Given the description of an element on the screen output the (x, y) to click on. 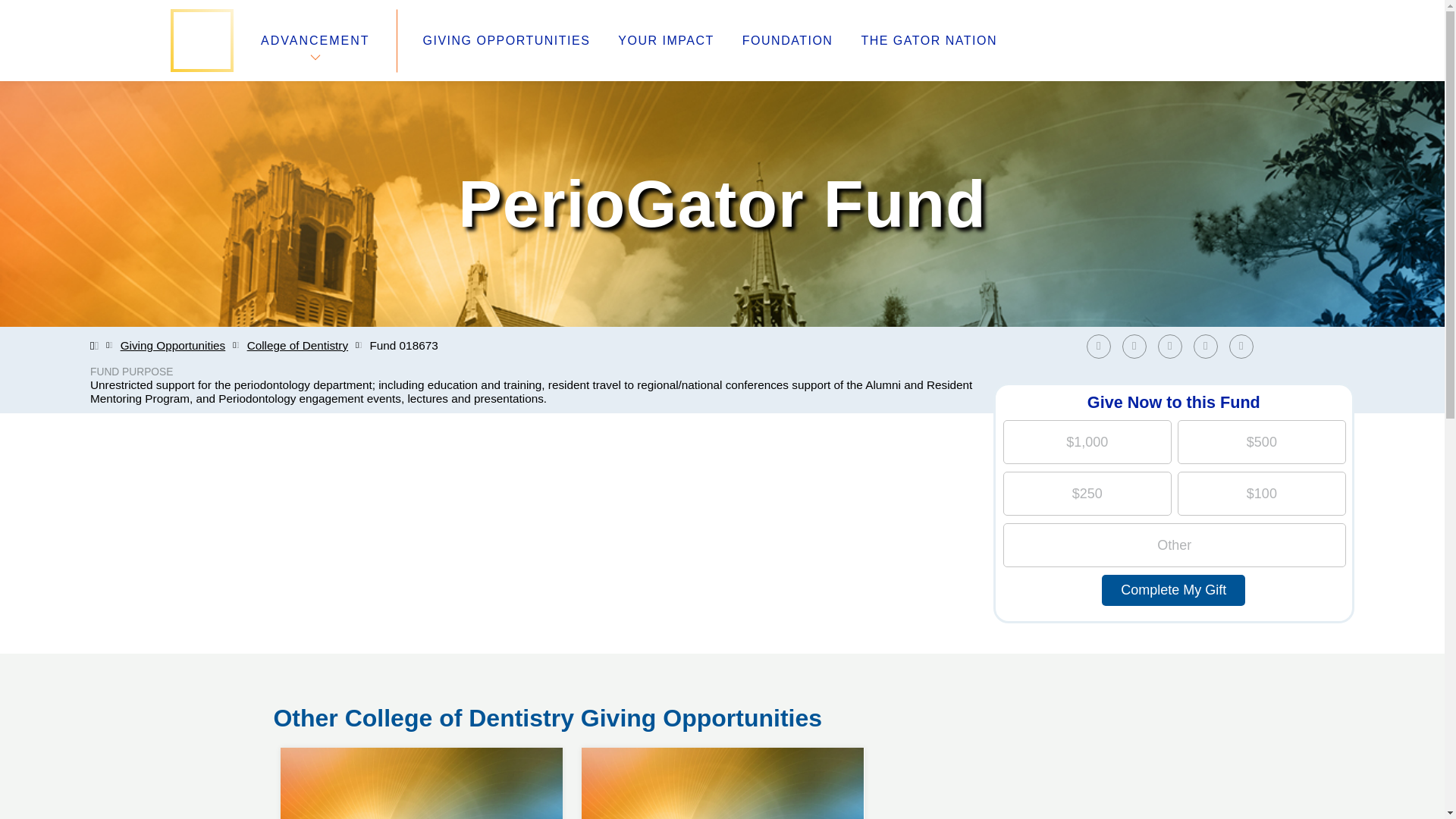
Share by Email (1240, 346)
Share on Twitter (1138, 345)
Share on Facebook (1098, 346)
Foundation Board (327, 704)
Staff Directory (316, 686)
ADVANCEMENT (314, 40)
Share on Twitter (1134, 346)
FOUNDATION (787, 40)
Contact Us (306, 723)
Advancement Toolkit (565, 686)
Disclosures (537, 723)
THE GATOR NATION (928, 40)
Share on Reddit (1205, 346)
Share on Facebook (1102, 345)
